Given the description of an element on the screen output the (x, y) to click on. 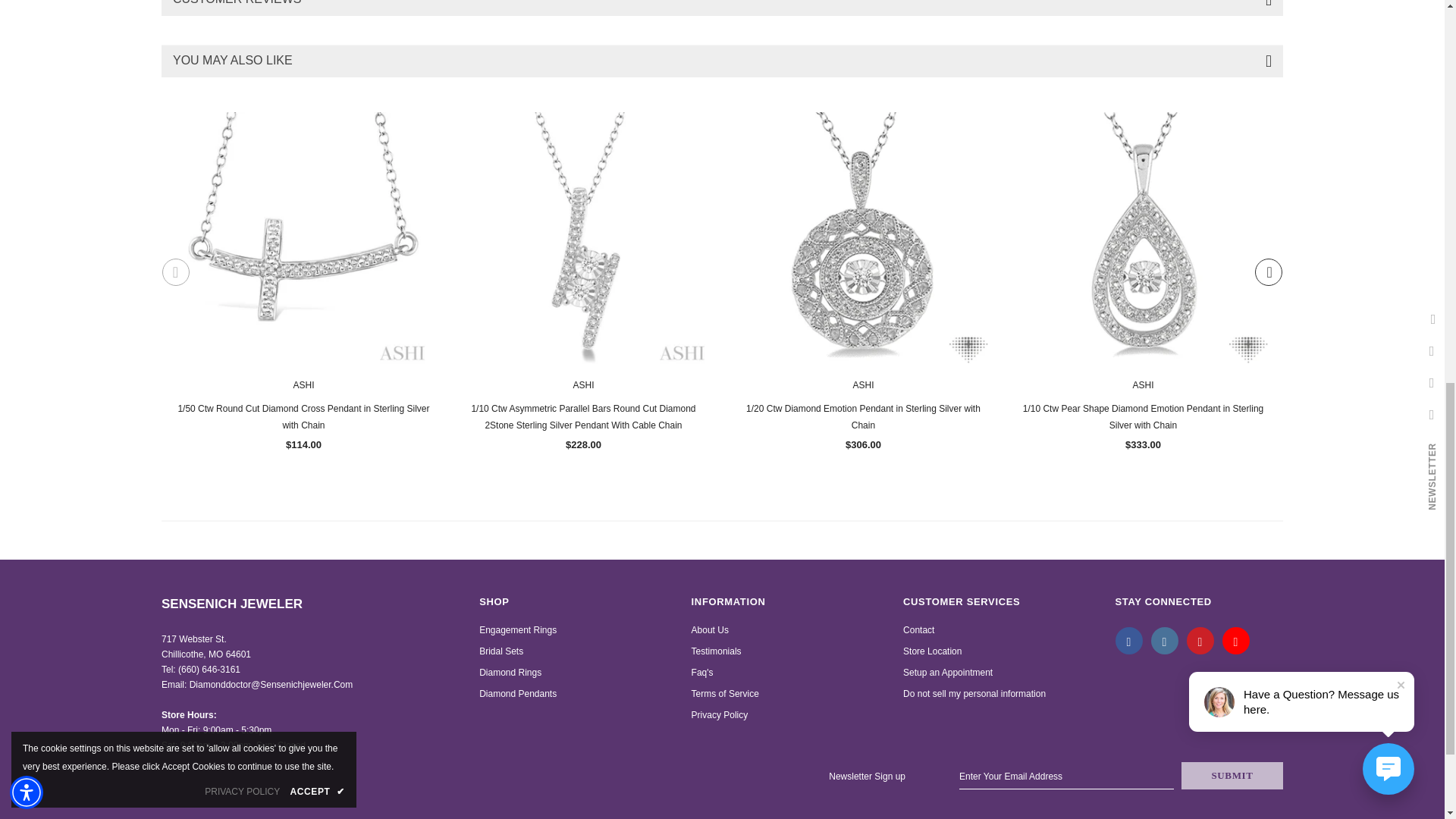
Submit (1231, 775)
